Given the description of an element on the screen output the (x, y) to click on. 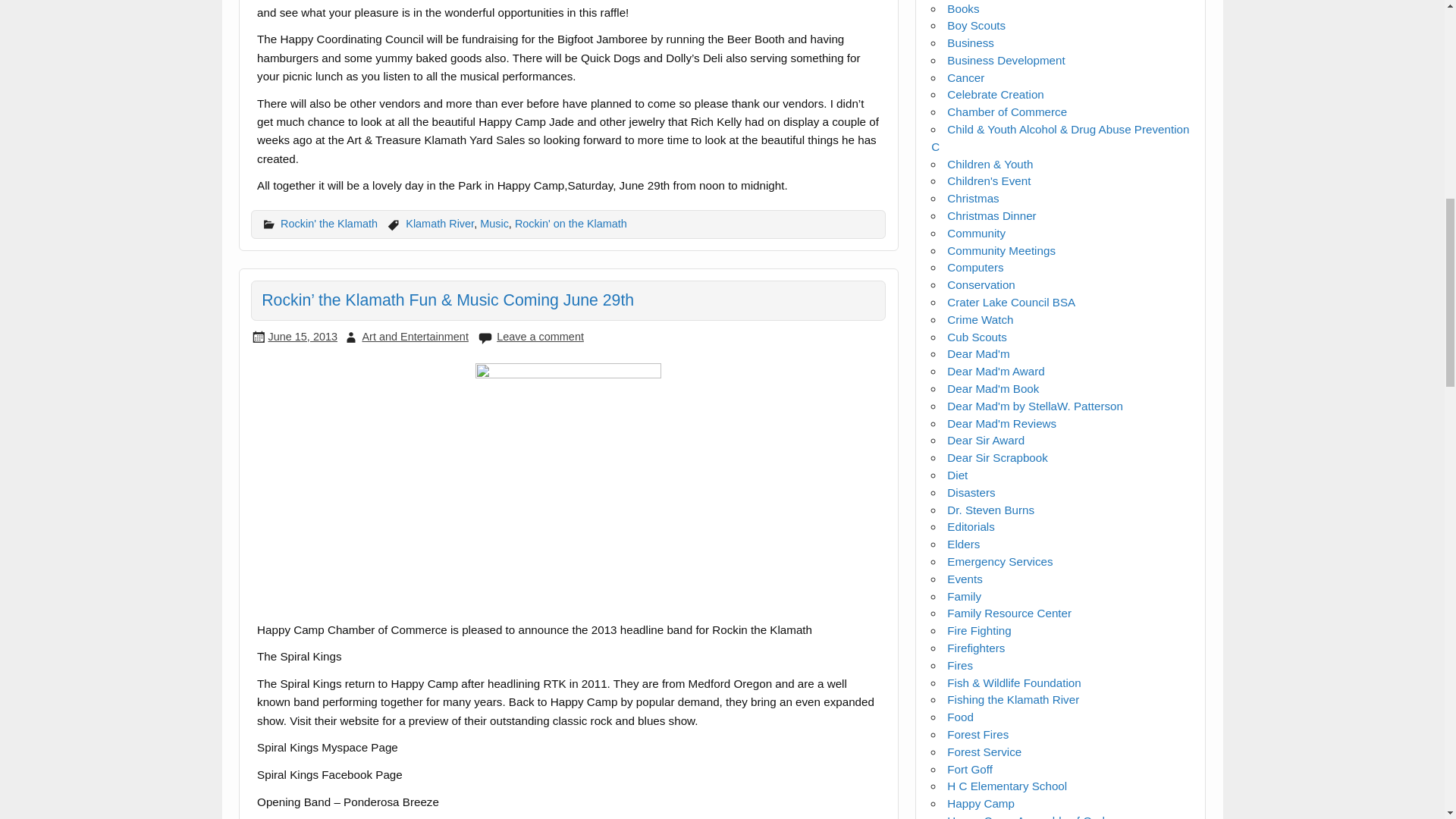
Leave a comment (539, 336)
Klamath River (440, 223)
Rockin' the Klamath (329, 223)
Art and Entertainment (414, 336)
Rockin' on the Klamath (571, 223)
June 15, 2013 (302, 336)
9:06 am (302, 336)
View all posts by Art and Entertainment (414, 336)
Music (494, 223)
